Given the description of an element on the screen output the (x, y) to click on. 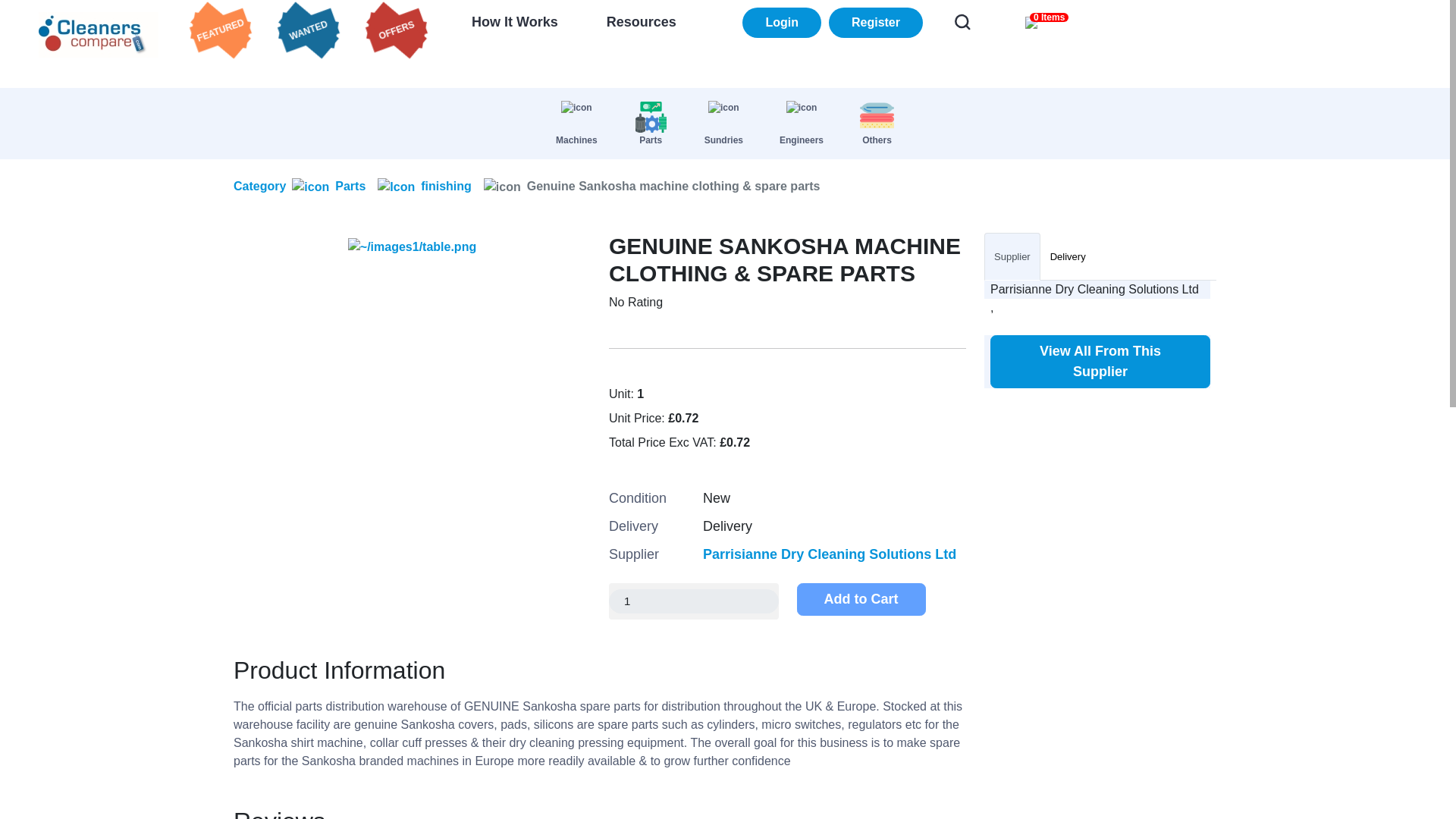
Parrisianne Dry Cleaning Solutions Ltd (829, 554)
View All From This Supplier (1099, 361)
Supplier (1012, 256)
Engineers (801, 123)
Category (258, 186)
How It Works (514, 21)
Parts (328, 186)
WANTED (308, 29)
1 (693, 601)
Add to Cart (860, 599)
Resources (641, 21)
FEATURED (220, 29)
Finishing (424, 186)
OFFERS (396, 29)
Login (781, 22)
